Given the description of an element on the screen output the (x, y) to click on. 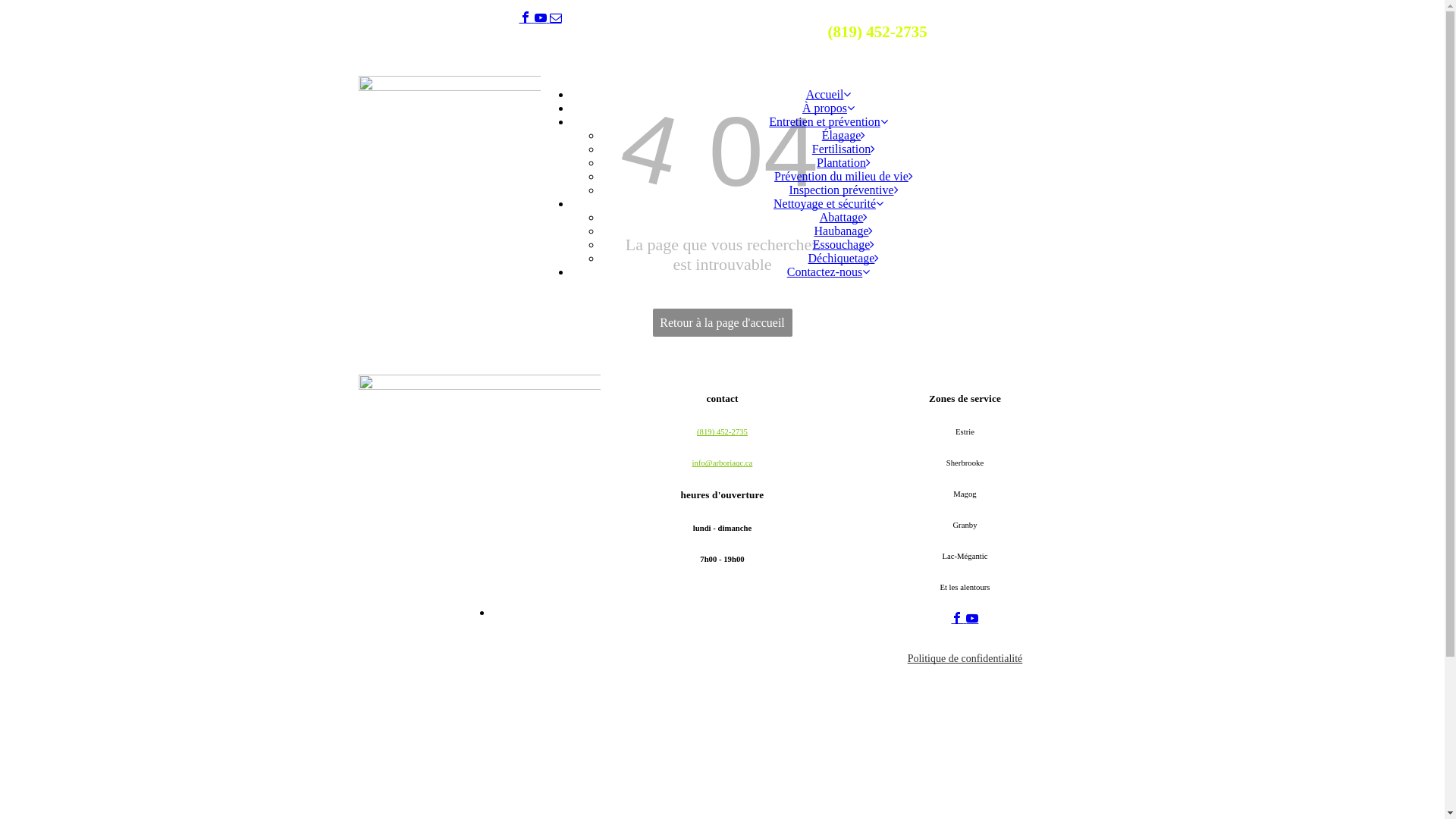
(819) 452-2735 Element type: text (721, 431)
Contactez-nous Element type: text (828, 271)
Essouchage Element type: text (843, 244)
(819) 452-2735 Element type: text (876, 31)
info@arboriaqc.ca Element type: text (722, 462)
Fertilisation Element type: text (843, 148)
Abattage Element type: text (843, 216)
Accueil Element type: text (828, 93)
Plantation Element type: text (843, 162)
Haubanage Element type: text (843, 230)
